Given the description of an element on the screen output the (x, y) to click on. 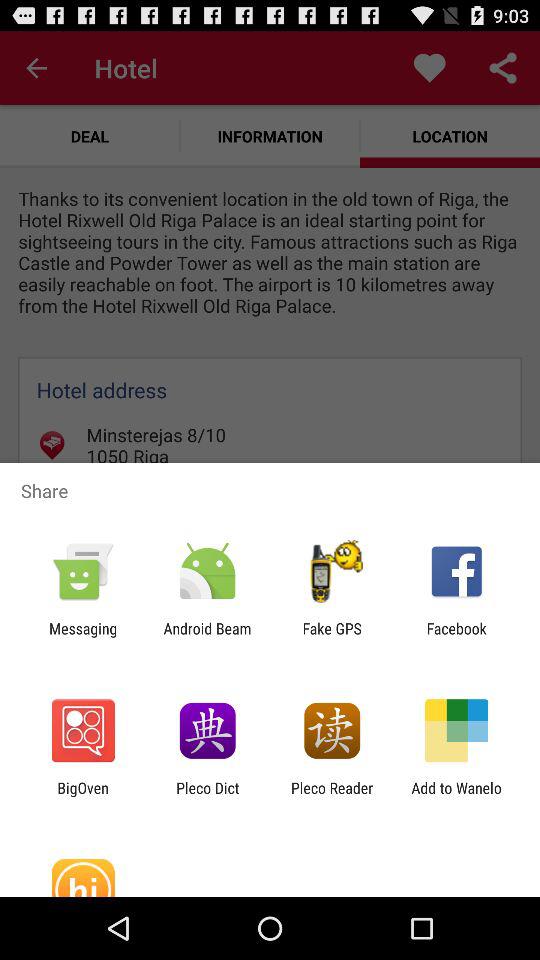
swipe to messaging app (83, 637)
